Given the description of an element on the screen output the (x, y) to click on. 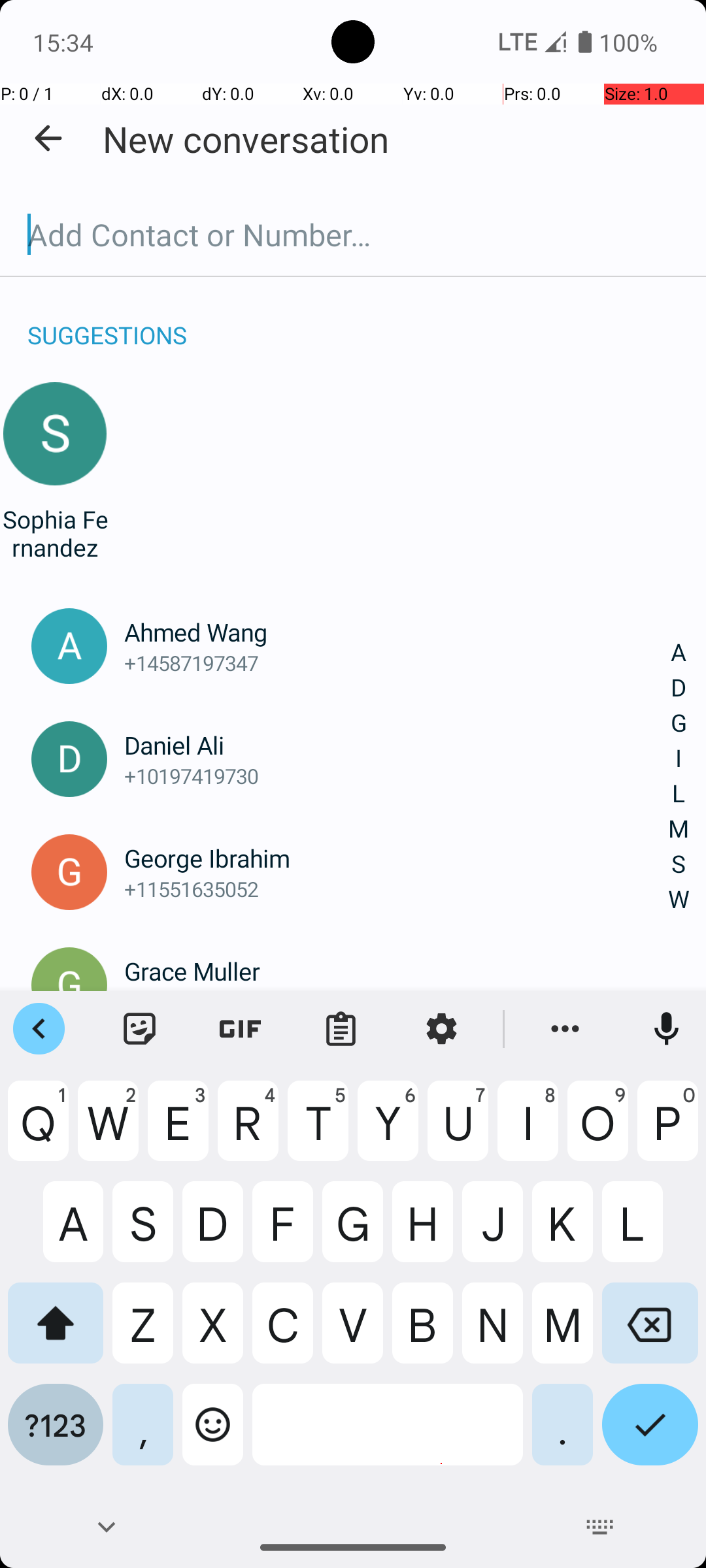
SUGGESTIONS Element type: android.widget.TextView (106, 321)
A
D
G
I
L
M
S
W Element type: android.widget.TextView (678, 776)
Sophia Fernandez Element type: android.widget.TextView (54, 532)
+14587197347 Element type: android.widget.TextView (397, 662)
+10197419730 Element type: android.widget.TextView (397, 775)
George Ibrahim Element type: android.widget.TextView (397, 857)
+11551635052 Element type: android.widget.TextView (397, 888)
Grace Muller Element type: android.widget.TextView (397, 970)
+12804137376 Element type: android.widget.TextView (397, 1001)
